Given the description of an element on the screen output the (x, y) to click on. 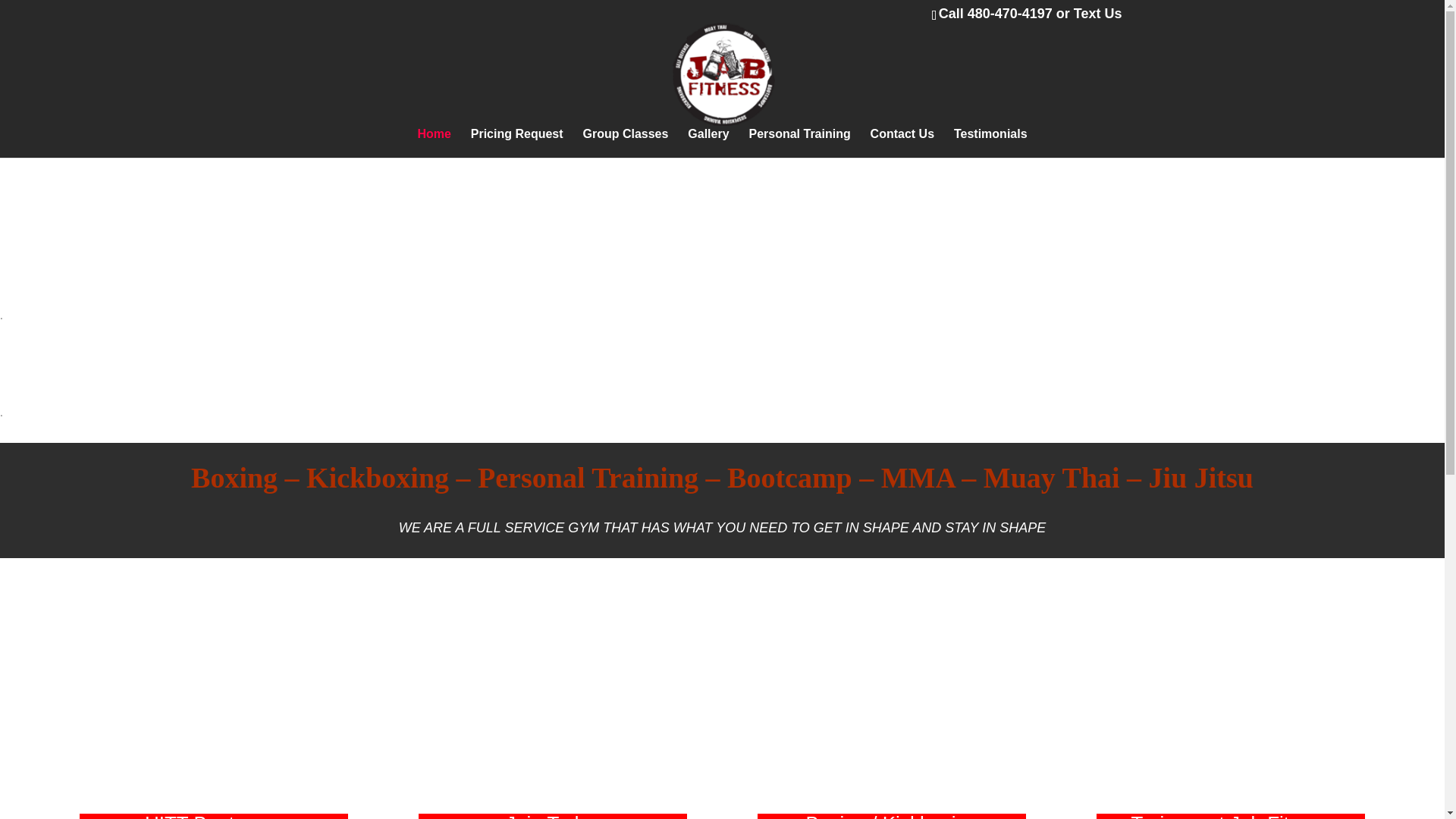
Personal Training (799, 143)
Gallery (708, 143)
Text Us (1098, 13)
Pricing Request (516, 143)
Home (432, 143)
Testimonials (990, 143)
Contact Us (902, 143)
Call 480-470-4197 (995, 13)
Group Classes (625, 143)
